Given the description of an element on the screen output the (x, y) to click on. 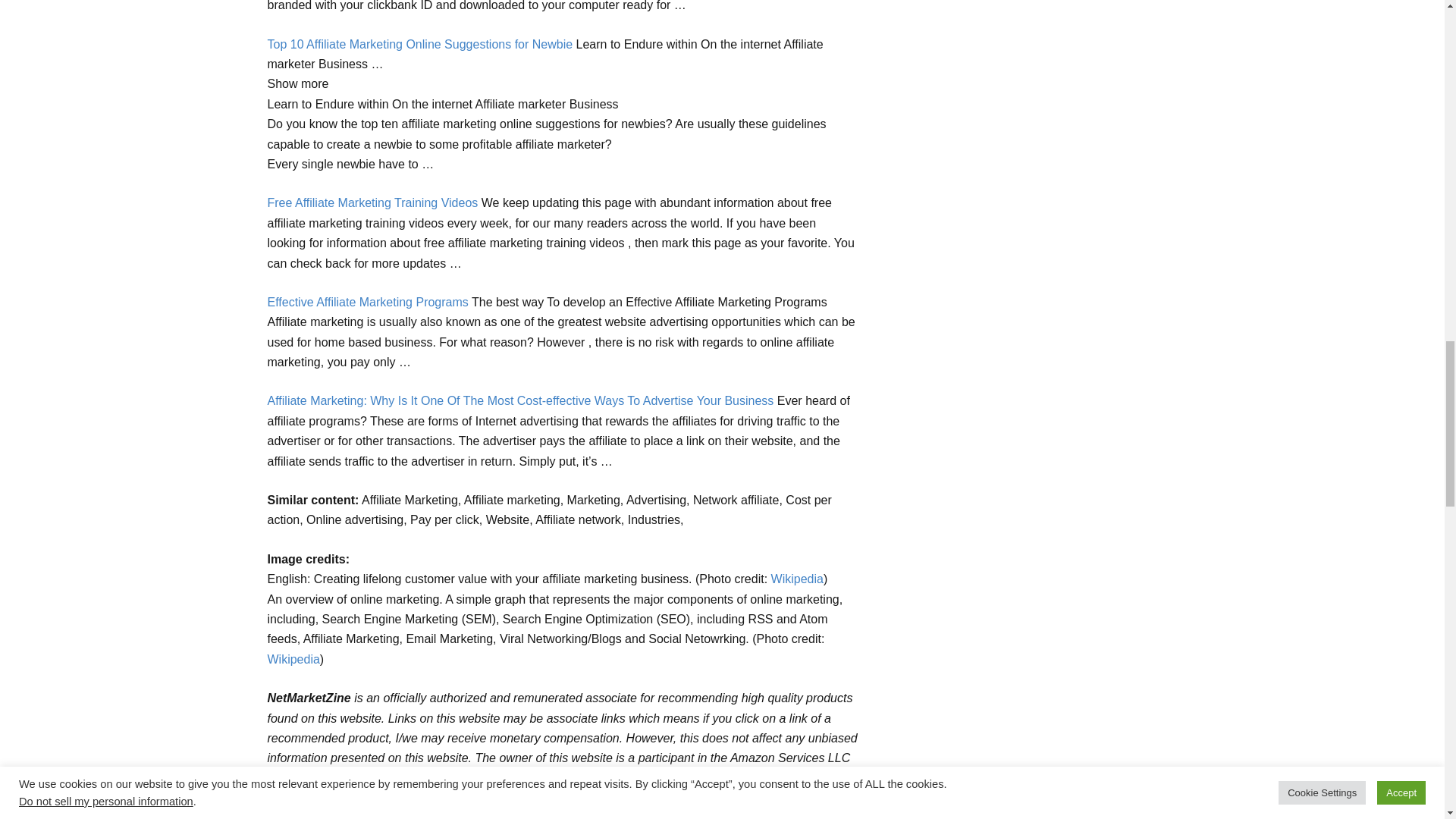
Wikipedia (797, 578)
Effective Affiliate Marketing Programs (366, 301)
Top 10 Affiliate Marketing Online Suggestions for Newbie (419, 43)
Free Affiliate Marketing Training Videos (371, 202)
Wikipedia (292, 658)
